Given the description of an element on the screen output the (x, y) to click on. 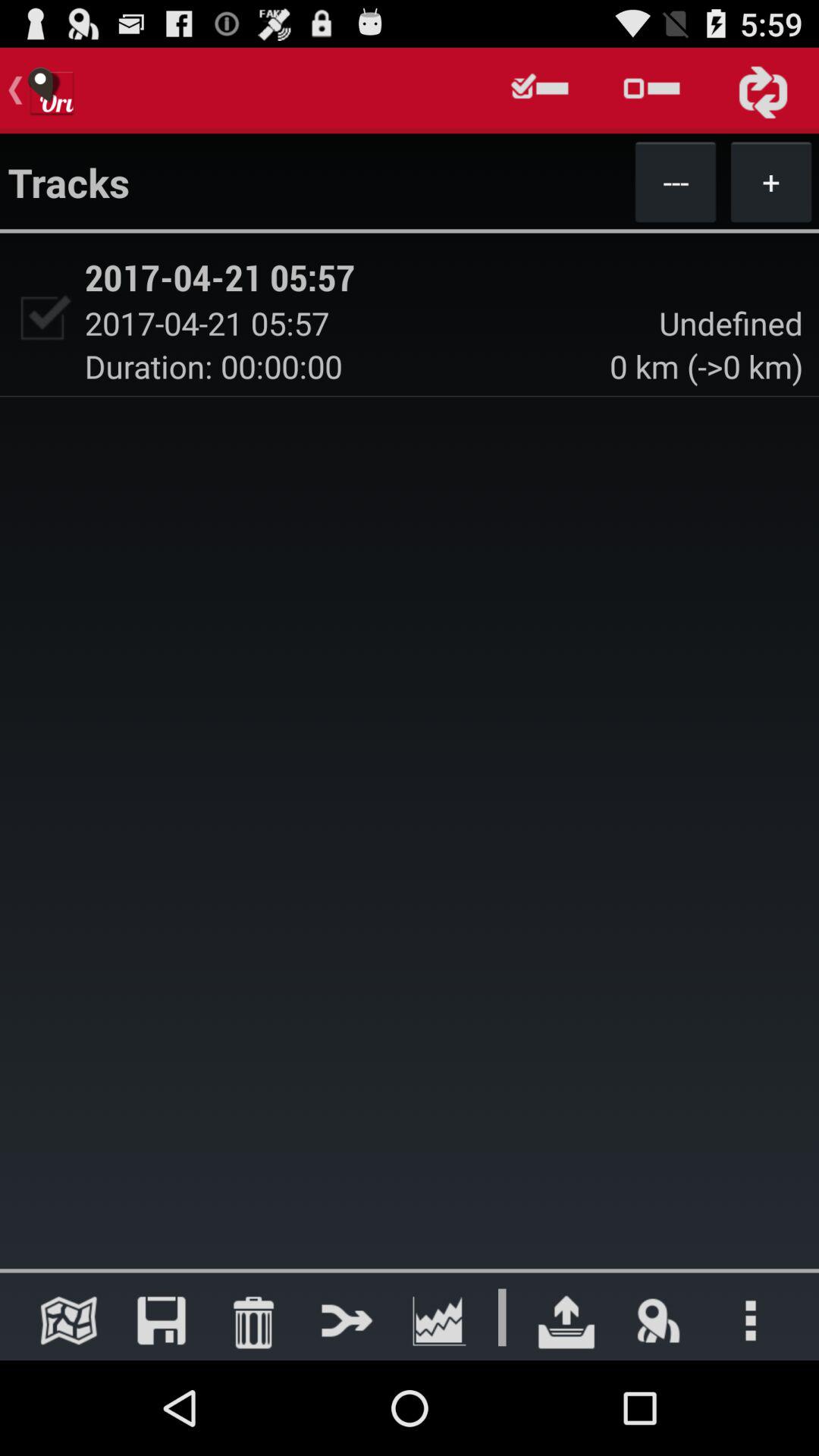
look at graph (437, 1320)
